Given the description of an element on the screen output the (x, y) to click on. 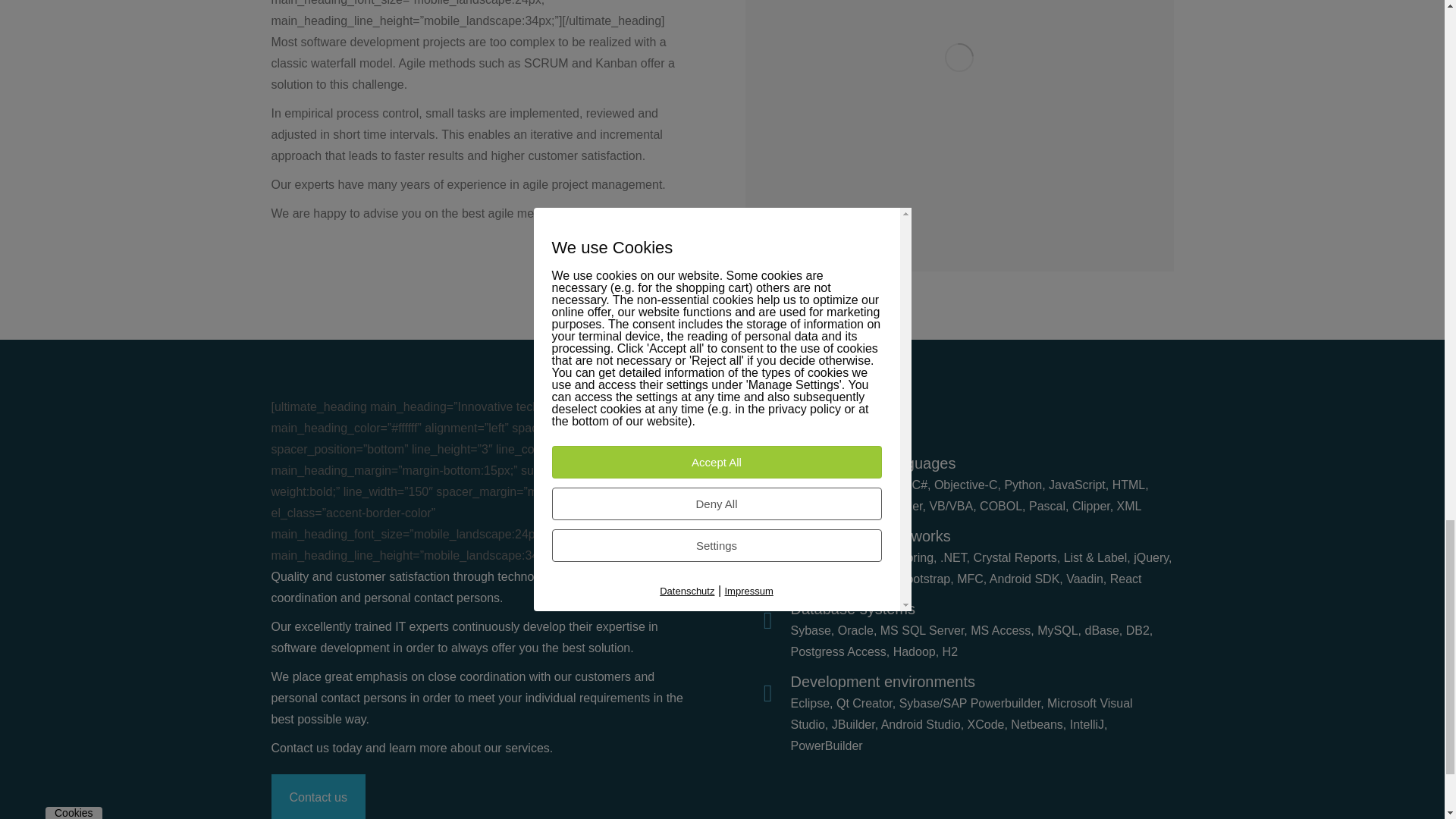
Kostenlos beraten (317, 796)
Contact us (317, 796)
